Given the description of an element on the screen output the (x, y) to click on. 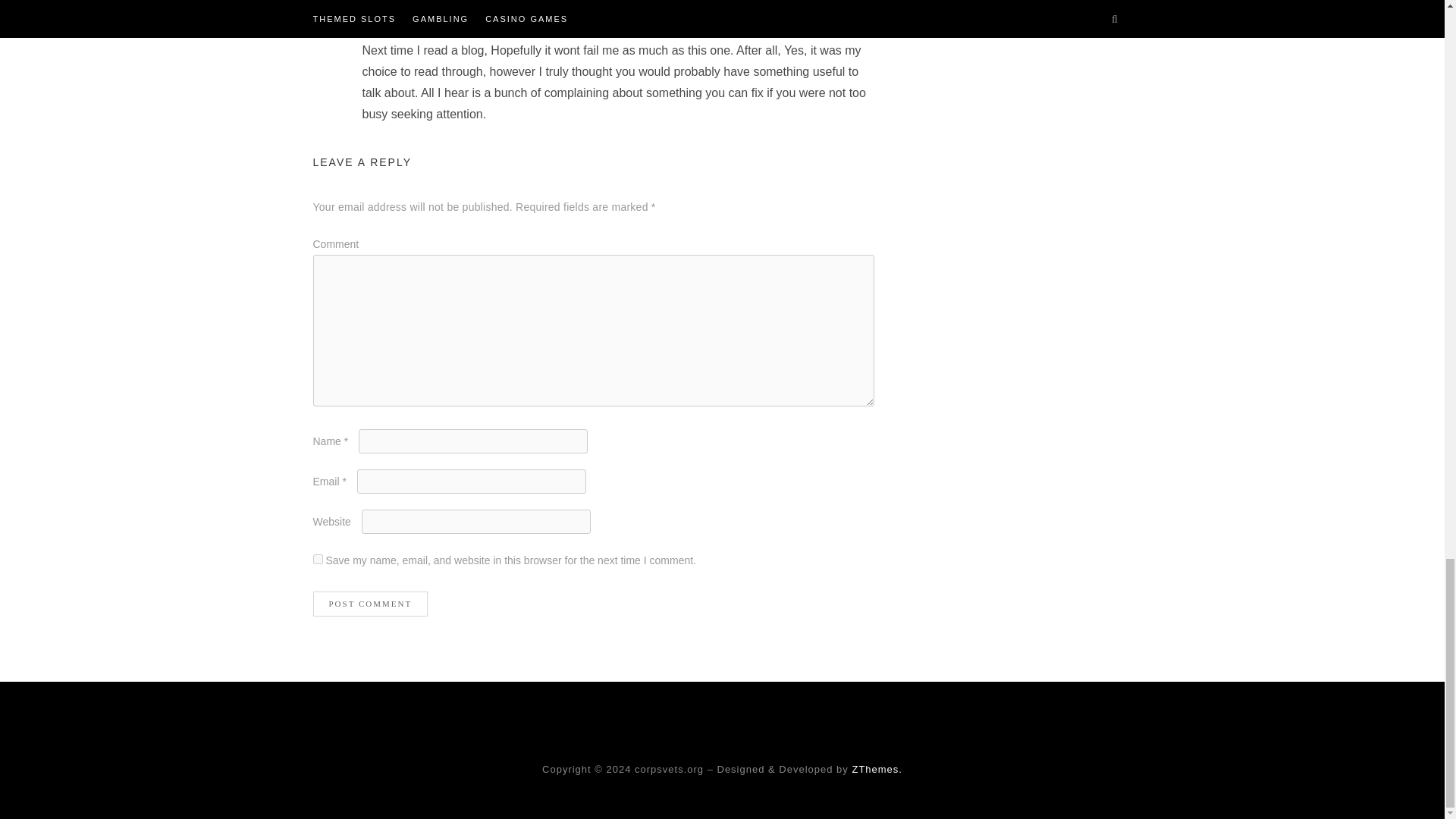
Post Comment (370, 603)
Post Comment (370, 603)
REPLY (859, 2)
yes (317, 559)
July 30, 2022 at 12:16 pm (424, 11)
